Given the description of an element on the screen output the (x, y) to click on. 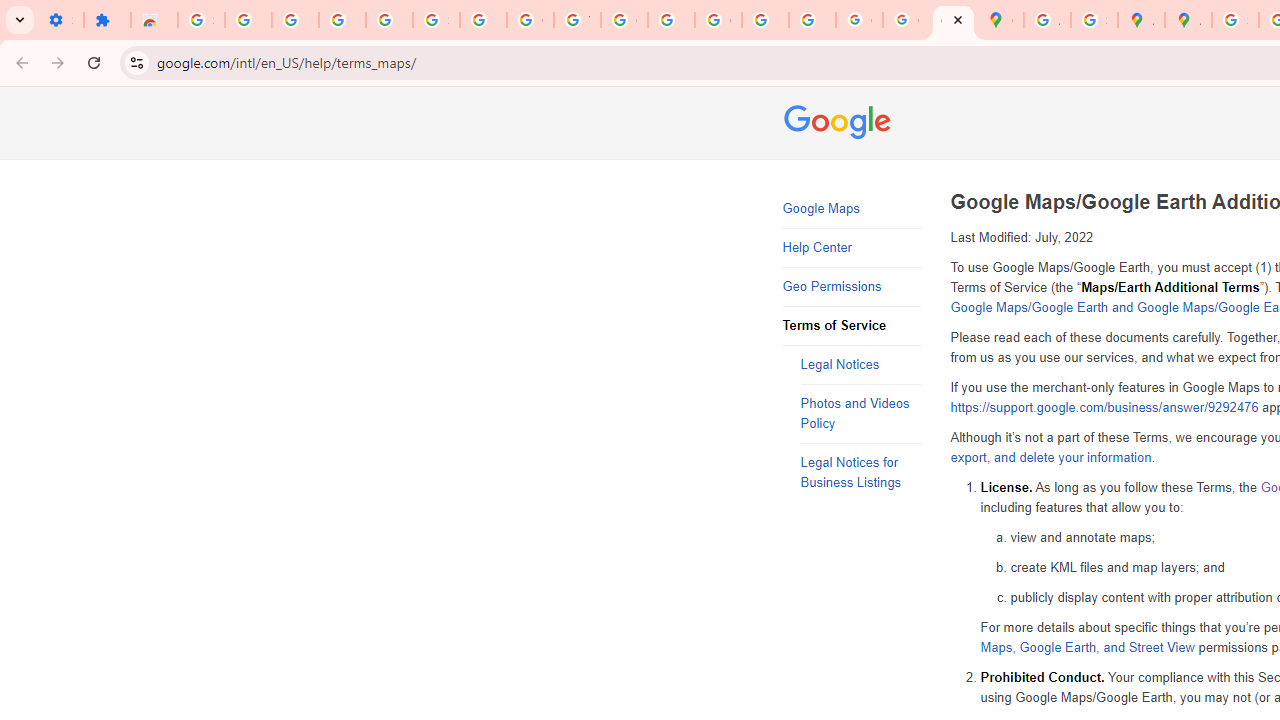
Google Maps (851, 209)
YouTube (577, 20)
Geo Permissions (851, 286)
Safety in Our Products - Google Safety Center (1094, 20)
https://support.google.com/business/answer/9292476 (1104, 408)
Legal Notices (860, 365)
